Given the description of an element on the screen output the (x, y) to click on. 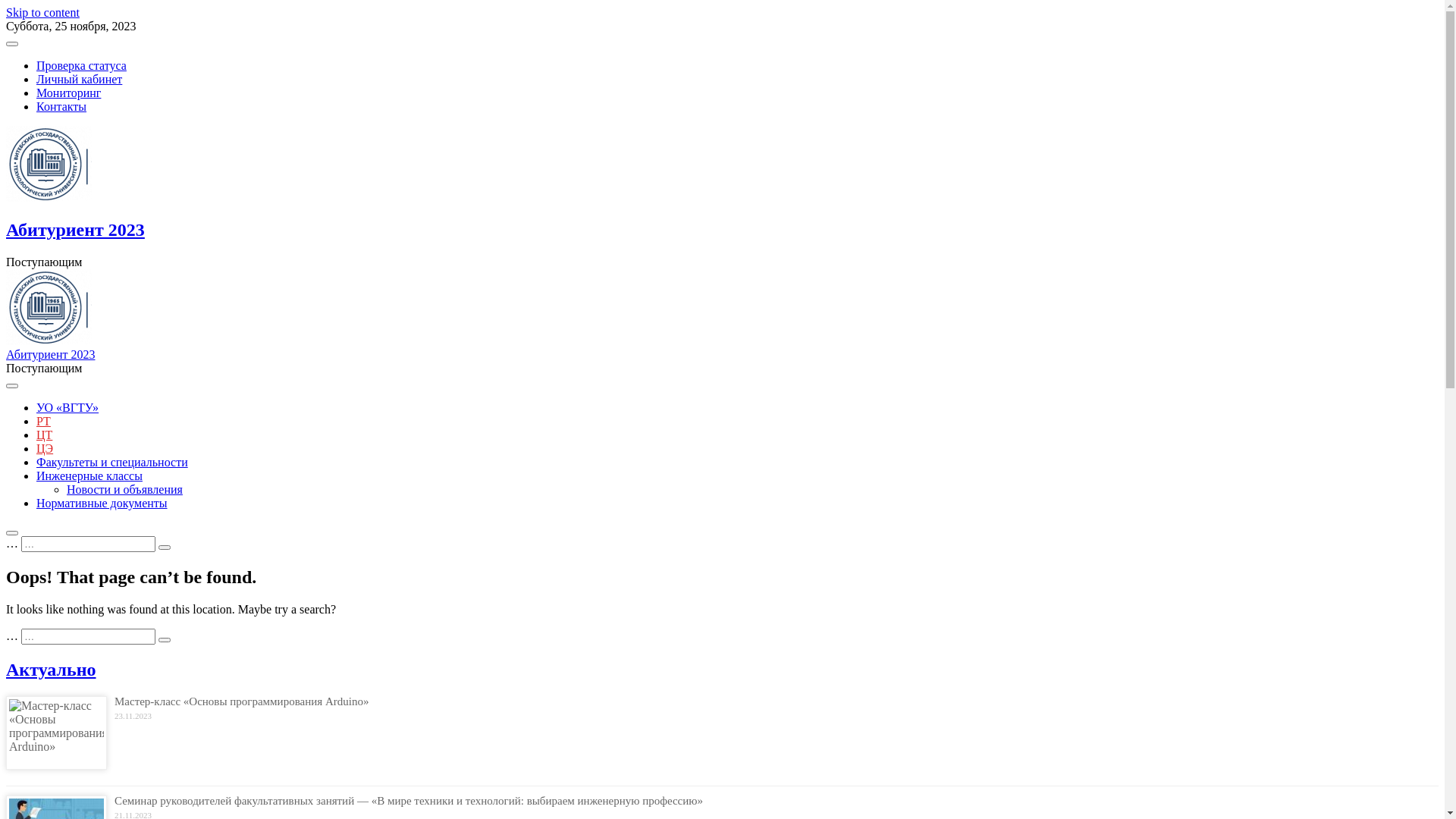
Skip to content Element type: text (42, 12)
